Given the description of an element on the screen output the (x, y) to click on. 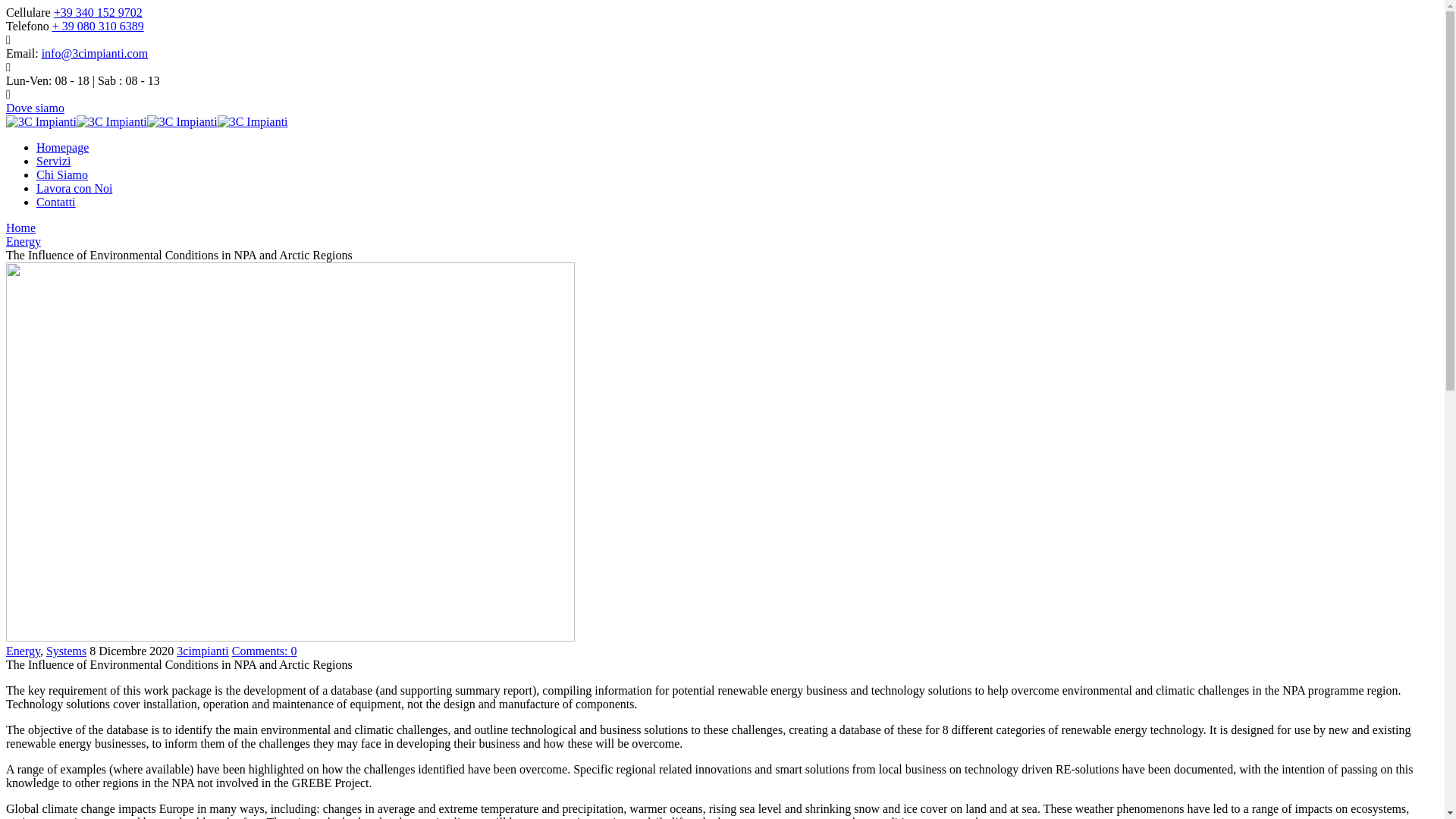
Energy Element type: text (23, 650)
Systems Element type: text (66, 650)
Energy Element type: text (23, 241)
Comments: 0 Element type: text (264, 650)
3C Impianti Element type: hover (41, 121)
Home Element type: text (20, 227)
3C Impianti Element type: hover (182, 121)
Servizi Element type: text (53, 160)
3cimpianti Element type: text (202, 650)
Homepage Element type: text (62, 147)
info@3cimpianti.com Element type: text (94, 53)
Chi Siamo Element type: text (61, 174)
+ 39 080 310 6389 Element type: text (98, 25)
Contatti Element type: text (55, 201)
Dove siamo Element type: text (35, 107)
3C Impianti Element type: hover (111, 121)
Lavora con Noi Element type: text (74, 188)
+39 340 152 9702 Element type: text (97, 12)
3C Impianti Element type: hover (252, 121)
